Given the description of an element on the screen output the (x, y) to click on. 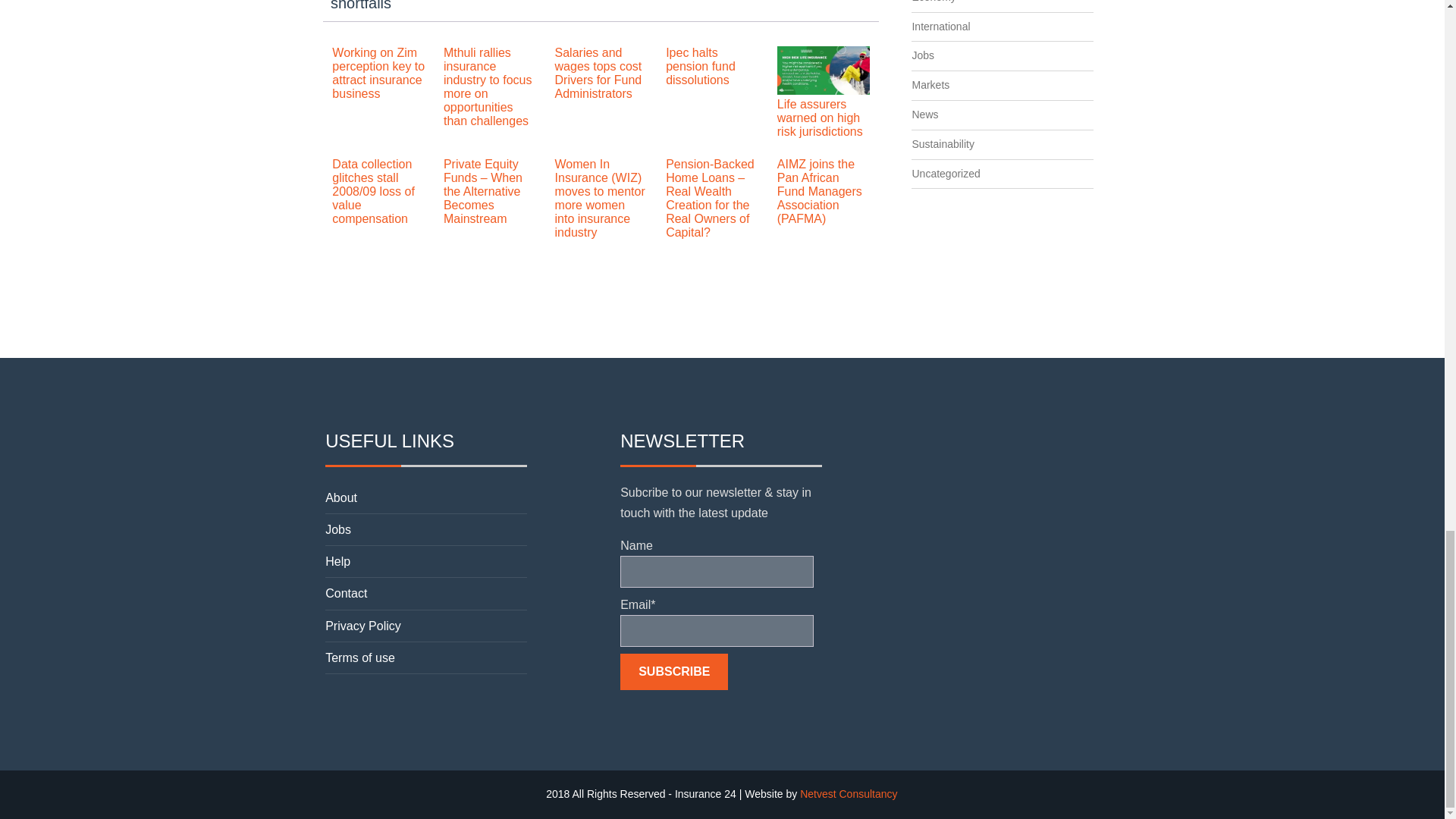
Working on Zim perception key to attract insurance business (378, 72)
Life assurers warned on high risk jurisdictions (820, 117)
Ipec halts pension fund dissolutions (700, 65)
Salaries and wages tops cost Drivers for Fund Administrators (598, 72)
Working on Zim perception key to attract insurance business (378, 72)
Salaries and wages tops cost Drivers for Fund Administrators (598, 72)
Subscribe (674, 671)
